Given the description of an element on the screen output the (x, y) to click on. 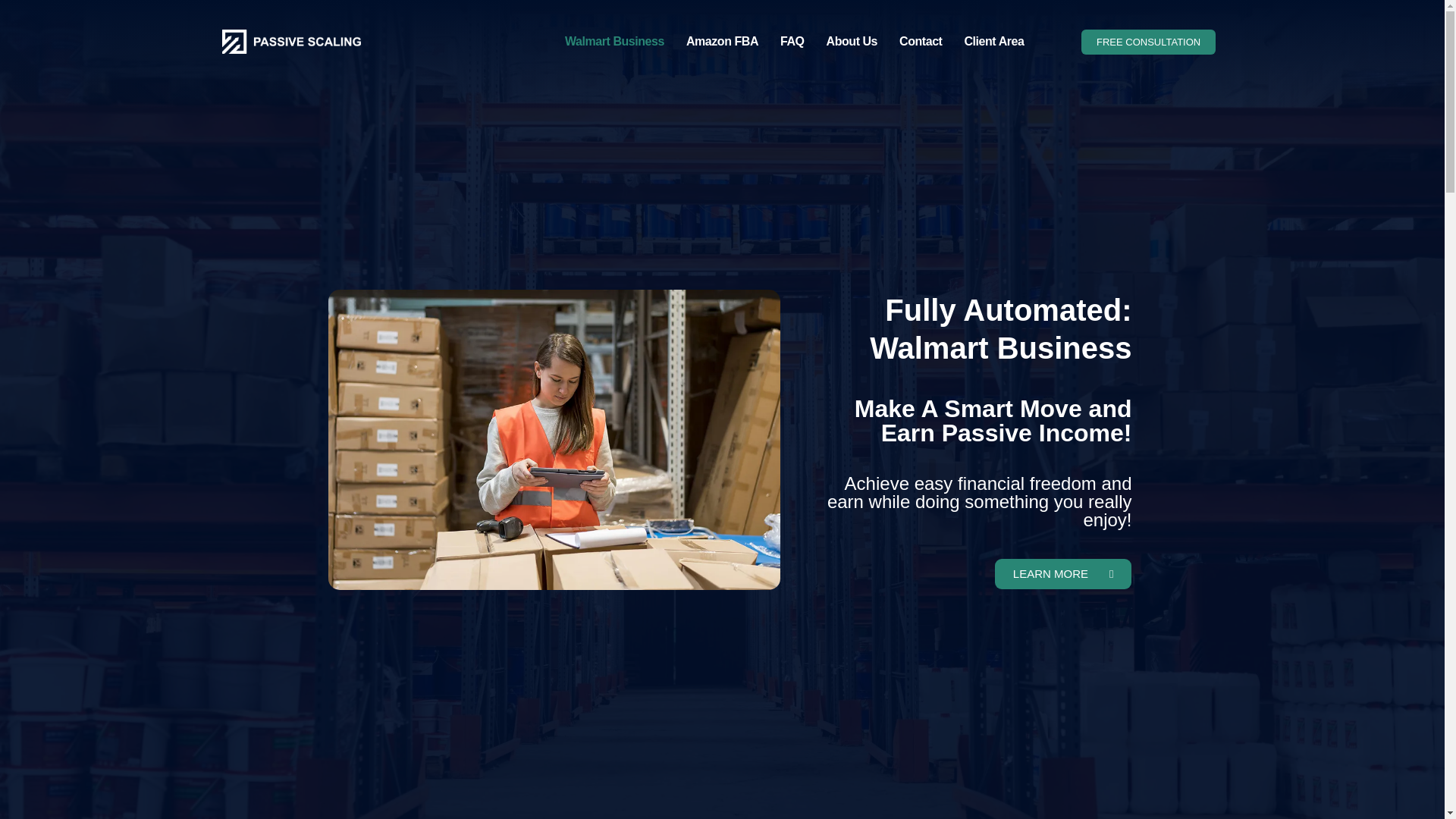
LEARN MORE (1063, 572)
Client Area (993, 19)
FREE CONSULTATION (1148, 34)
Contact (920, 17)
Amazon FBA (722, 10)
Walmart Business (614, 8)
About Us (852, 14)
FAQ (792, 12)
